Given the description of an element on the screen output the (x, y) to click on. 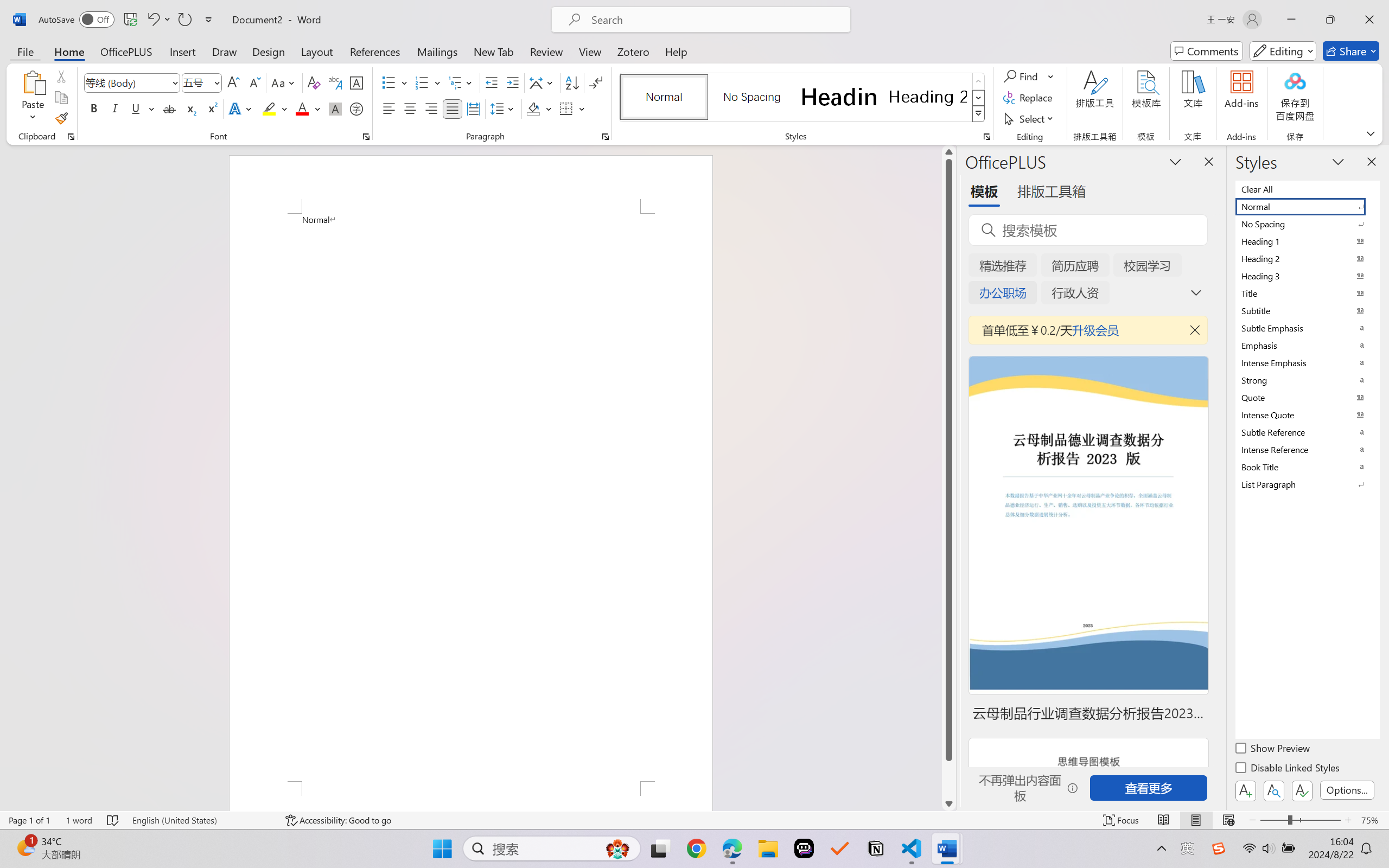
Underline (142, 108)
Undo Apply Quick Style (152, 19)
Find (1022, 75)
Review (546, 51)
References (375, 51)
Bold (94, 108)
Phonetic Guide... (334, 82)
Grow Font (233, 82)
Heading 3 (1306, 275)
Focus  (1121, 819)
Print Layout (1196, 819)
Font (126, 82)
Zoom (1300, 819)
